Given the description of an element on the screen output the (x, y) to click on. 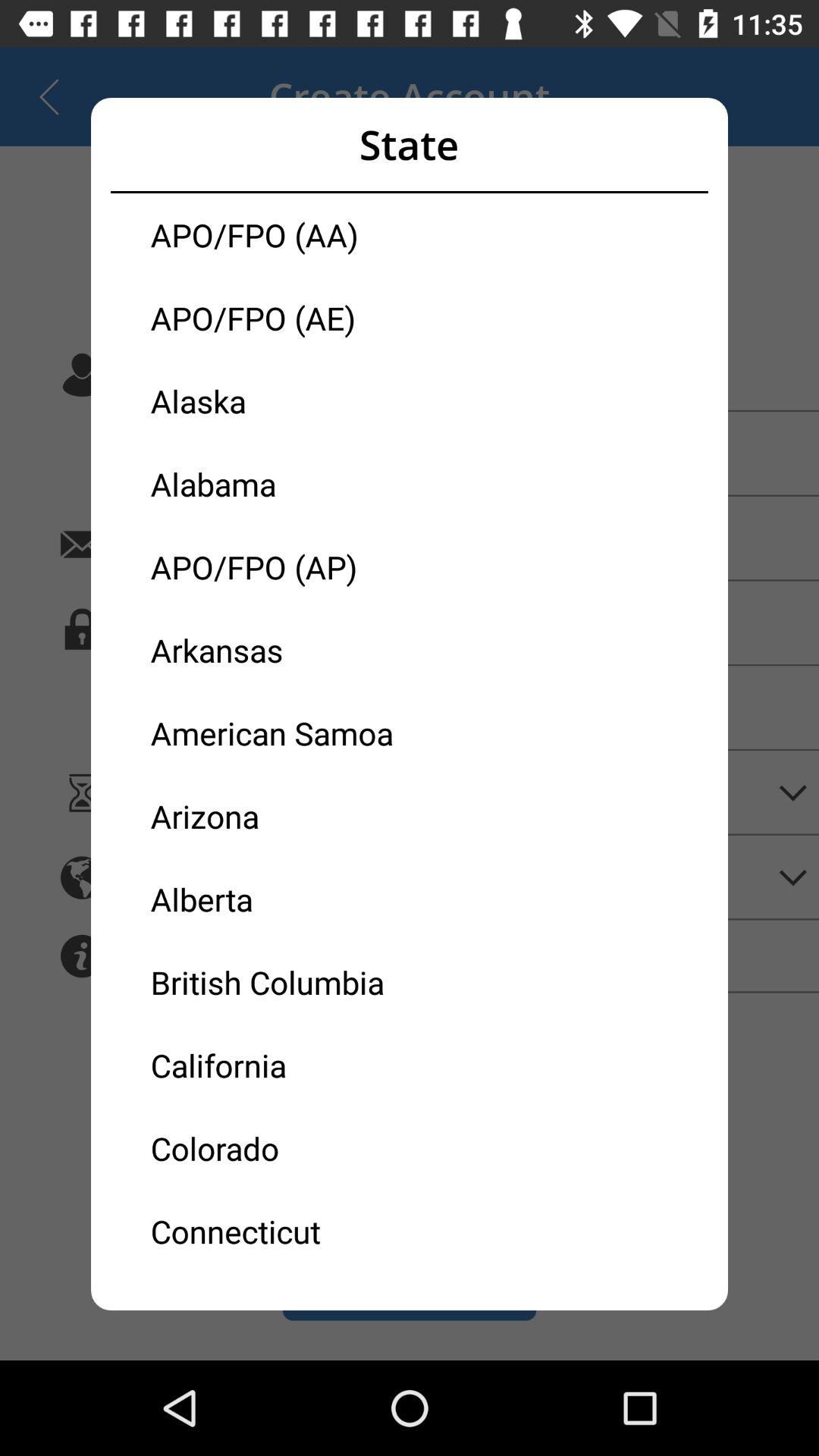
turn off item below apo/fpo (ae) (279, 400)
